Given the description of an element on the screen output the (x, y) to click on. 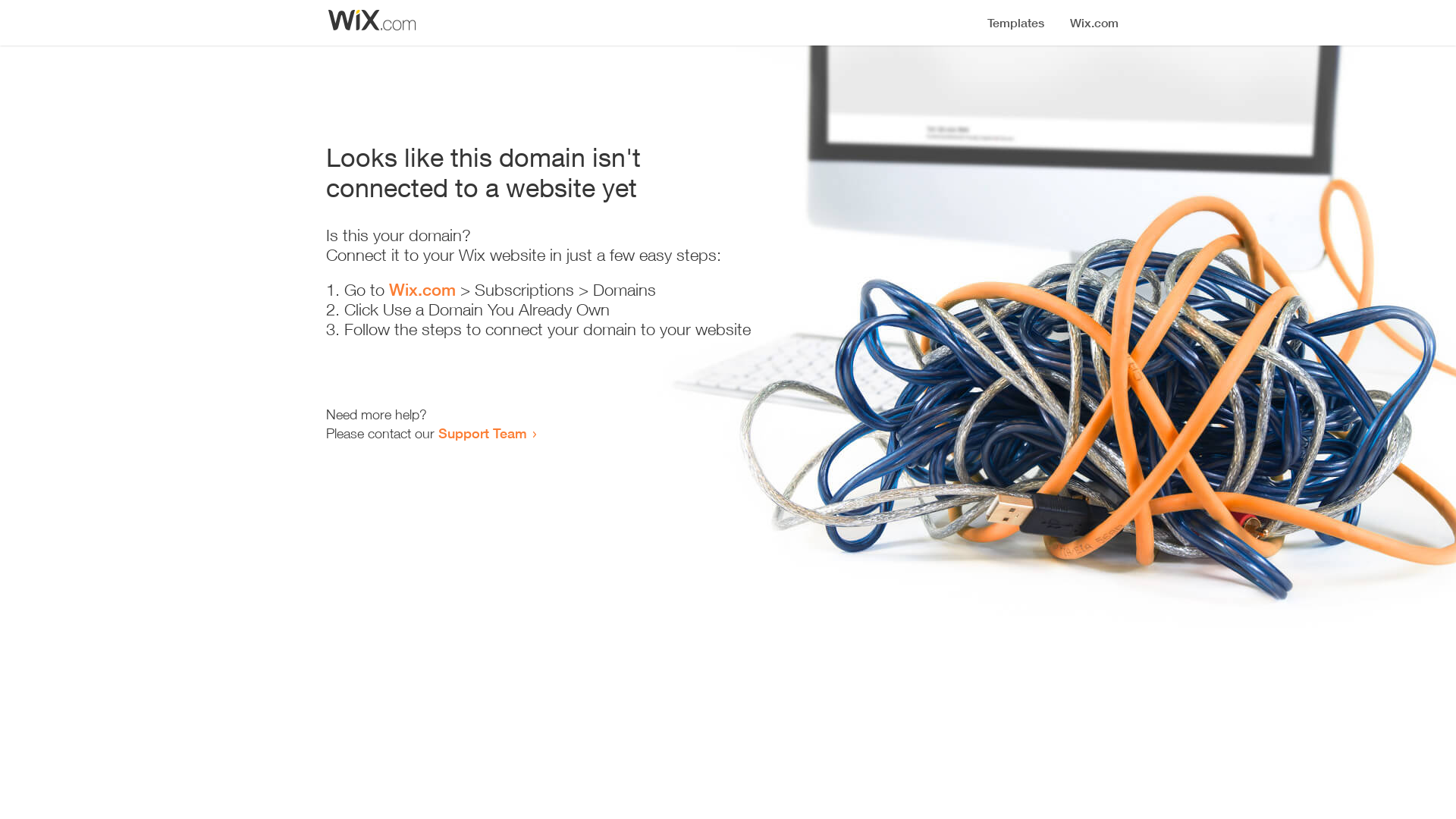
Support Team Element type: text (482, 432)
Wix.com Element type: text (422, 289)
